Given the description of an element on the screen output the (x, y) to click on. 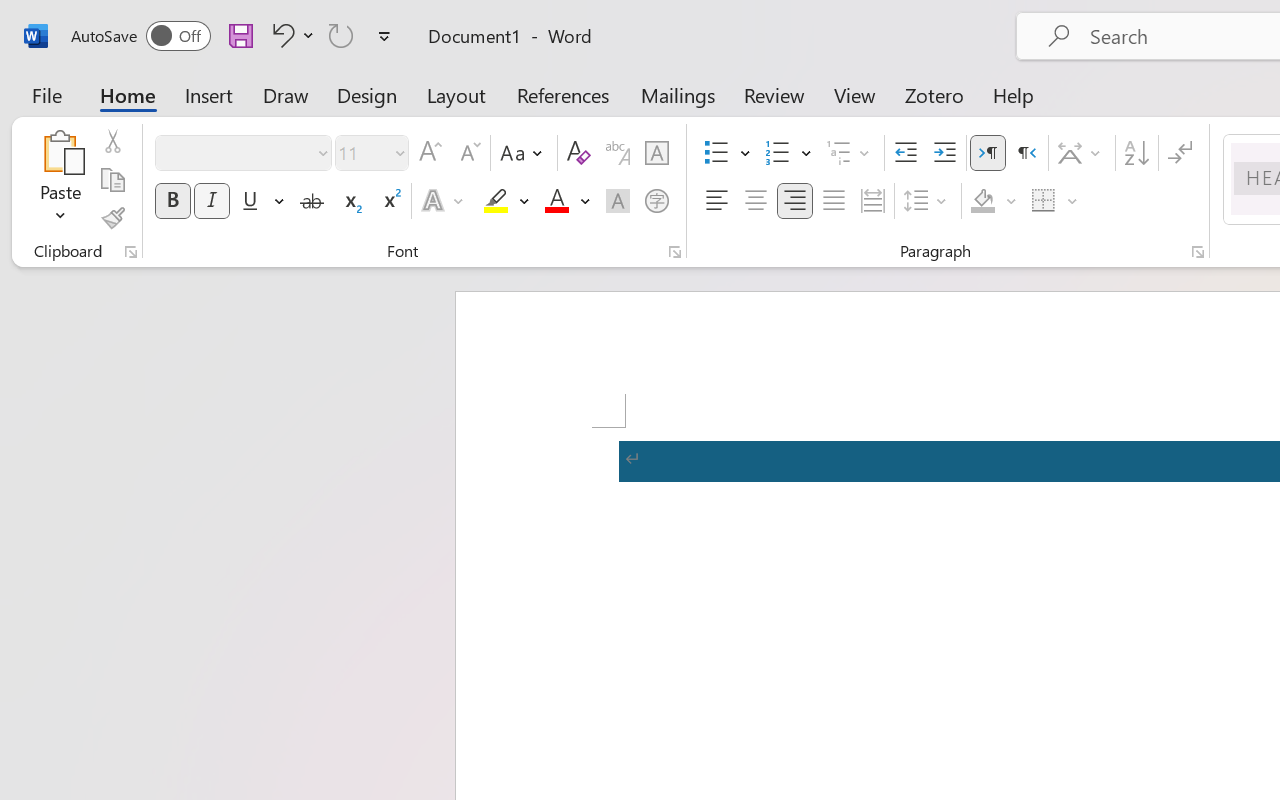
Shading No Color (982, 201)
